Given the description of an element on the screen output the (x, y) to click on. 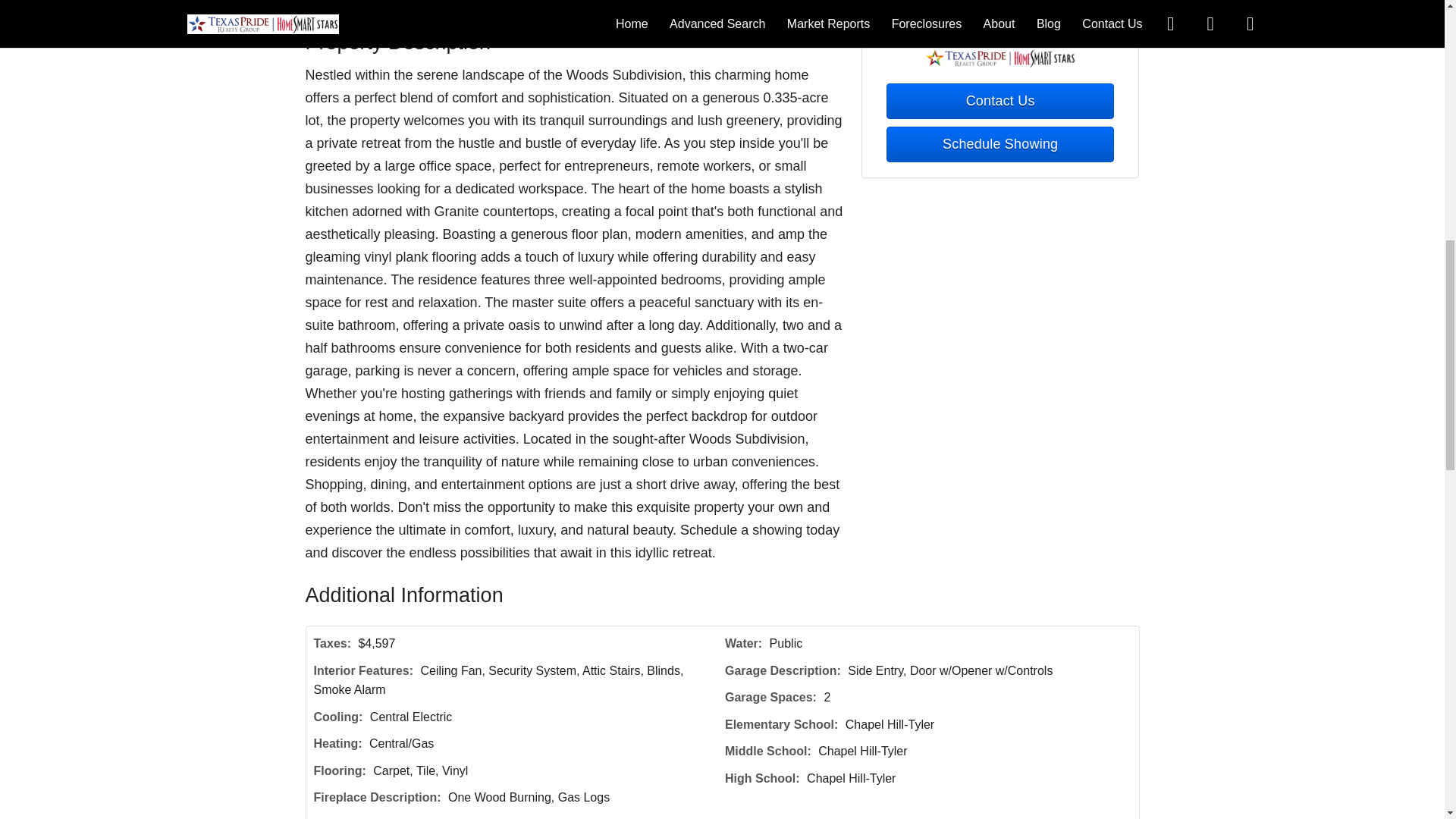
View on Map (452, 5)
Schedule Showing (999, 144)
Contact Us (357, 5)
Contact Us (999, 100)
Share (533, 5)
New Search (1090, 5)
